Given the description of an element on the screen output the (x, y) to click on. 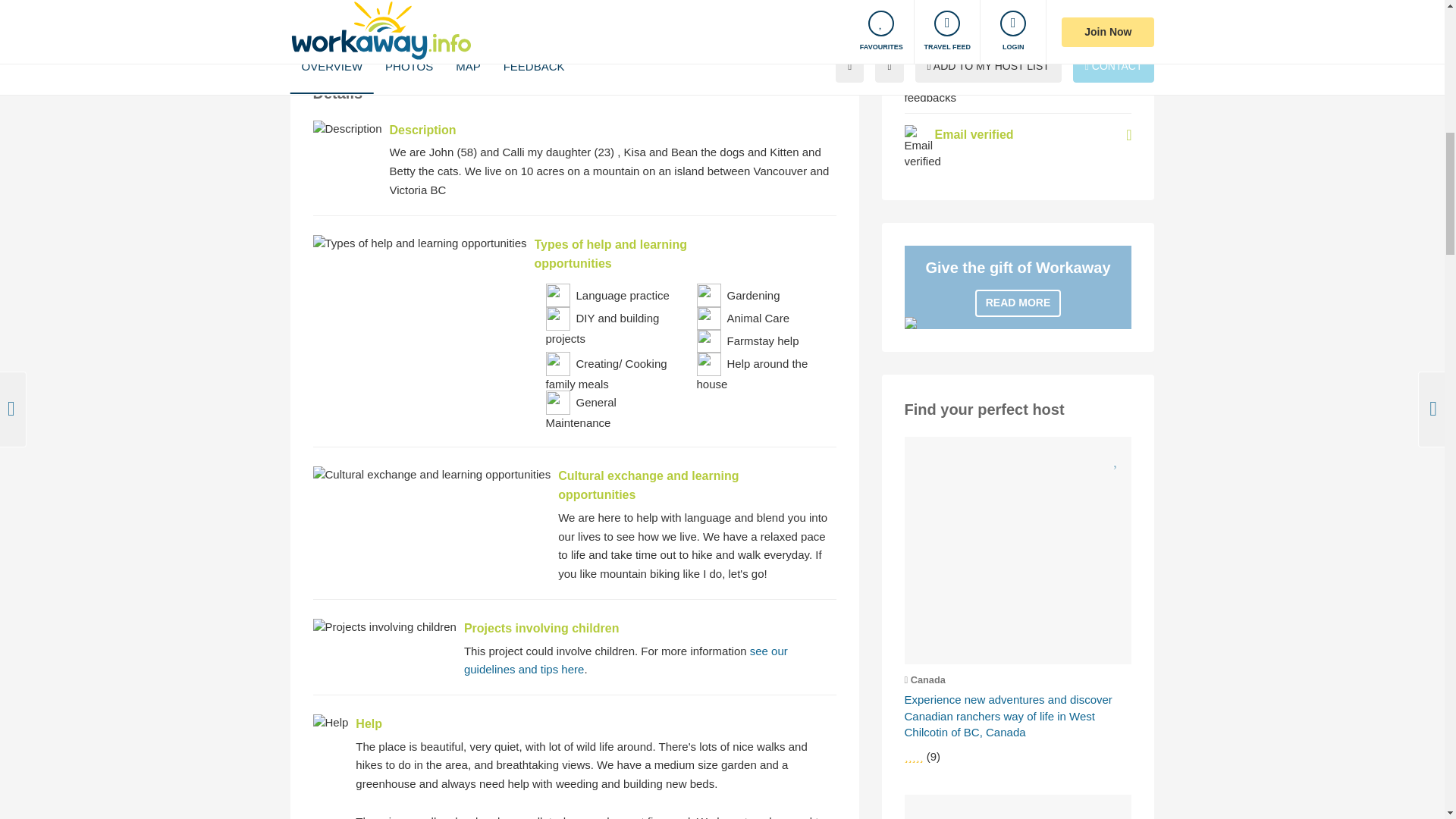
What's this? (1128, 134)
What's this? (1128, 90)
What's this? (1128, 20)
